Given the description of an element on the screen output the (x, y) to click on. 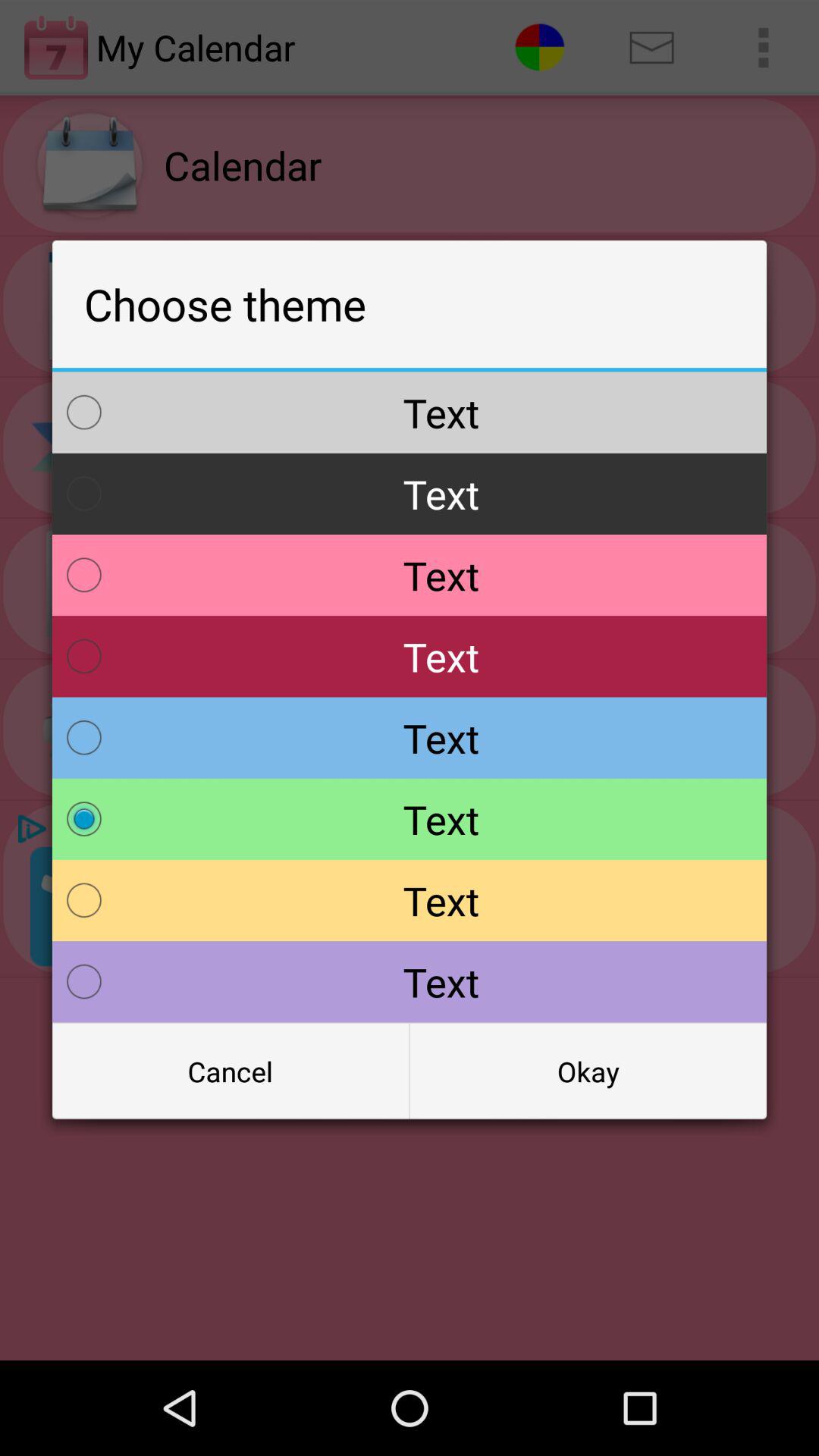
click the cancel item (230, 1071)
